Given the description of an element on the screen output the (x, y) to click on. 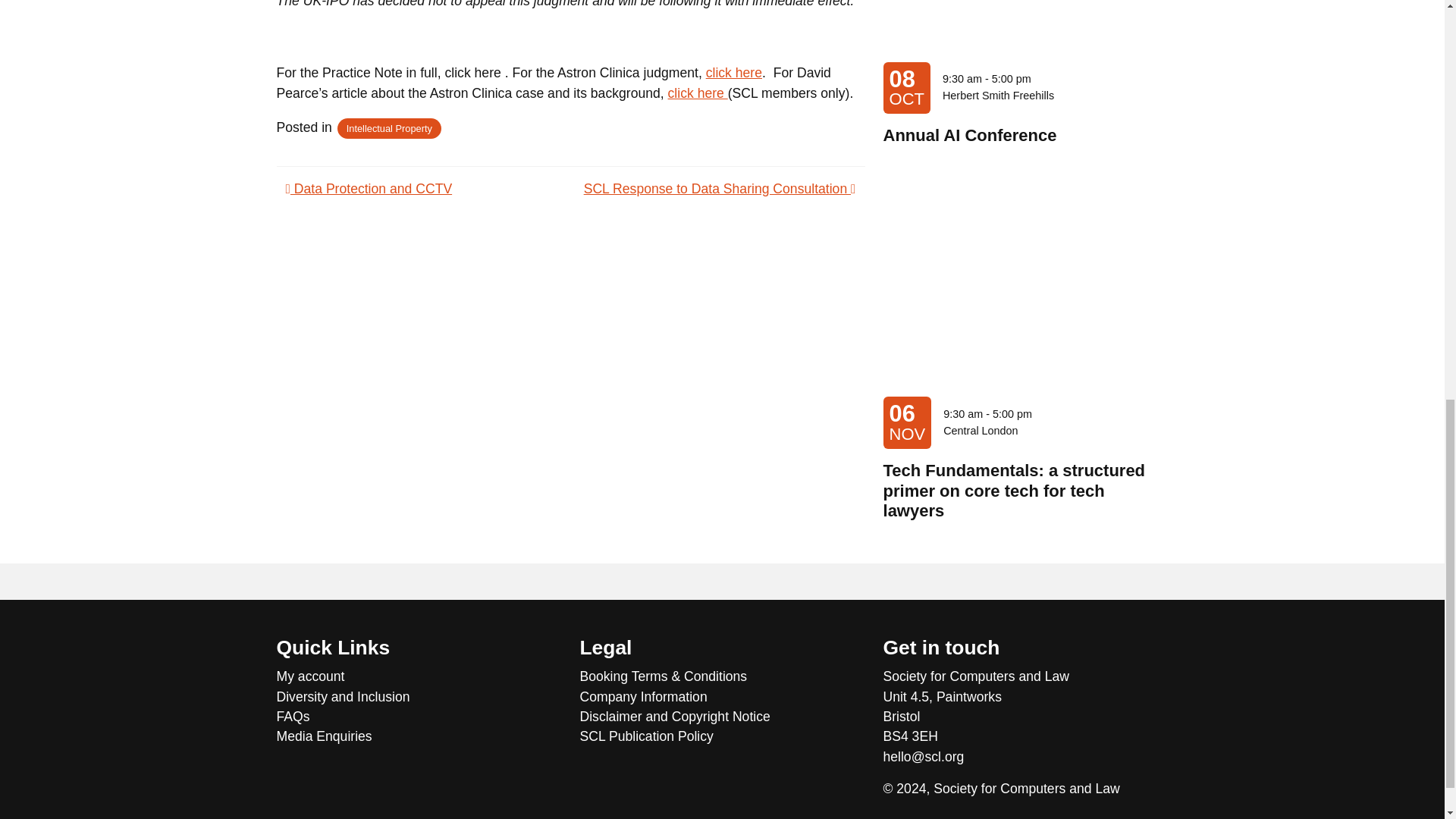
Annual AI Conference (970, 135)
click here (698, 92)
Company Information (721, 696)
FAQs (418, 716)
Media Enquiries (418, 736)
SCL Response to Data Sharing Consultation  (719, 188)
Diversity and Inclusion (418, 696)
SCL Publication Policy (721, 736)
My account (418, 676)
Intellectual Property (389, 127)
FAQs (418, 716)
Media Enquiries (418, 736)
My account (418, 676)
 Data Protection and CCTV (368, 188)
